Given the description of an element on the screen output the (x, y) to click on. 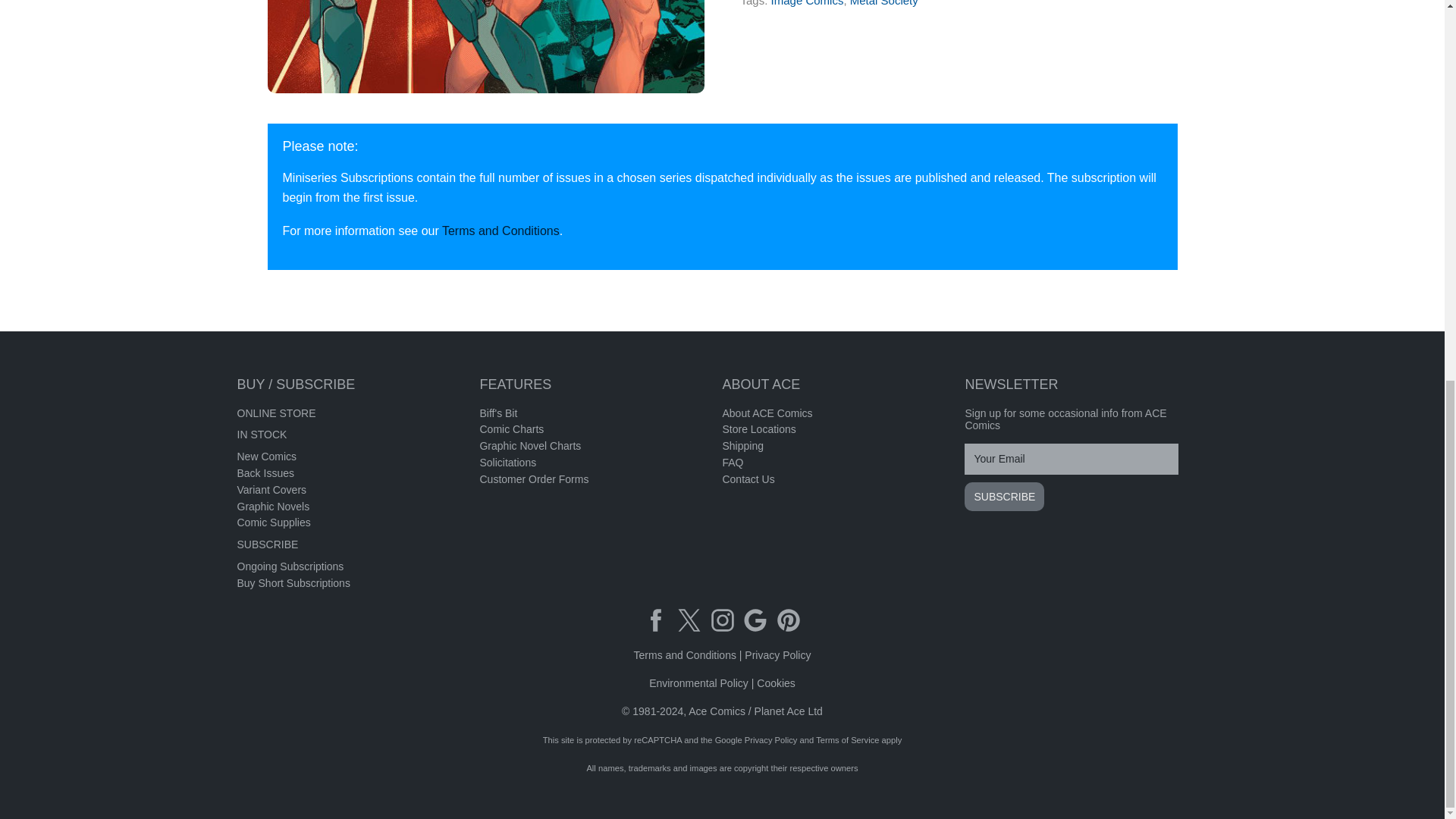
Ongoing Subscriptions (289, 566)
Comic Supplies (272, 522)
Biff's Bit (497, 413)
Variant Covers (270, 490)
Subscribe (1003, 496)
Buy Short Subscriptions (292, 582)
Metal Society (484, 46)
Your Email (1070, 459)
Graphic Novels (271, 506)
New Comics (266, 456)
Back Issues (264, 472)
ONLINE STORE (275, 413)
Comic Charts (511, 428)
Image Comics (807, 3)
Terms and Conditions (500, 230)
